Given the description of an element on the screen output the (x, y) to click on. 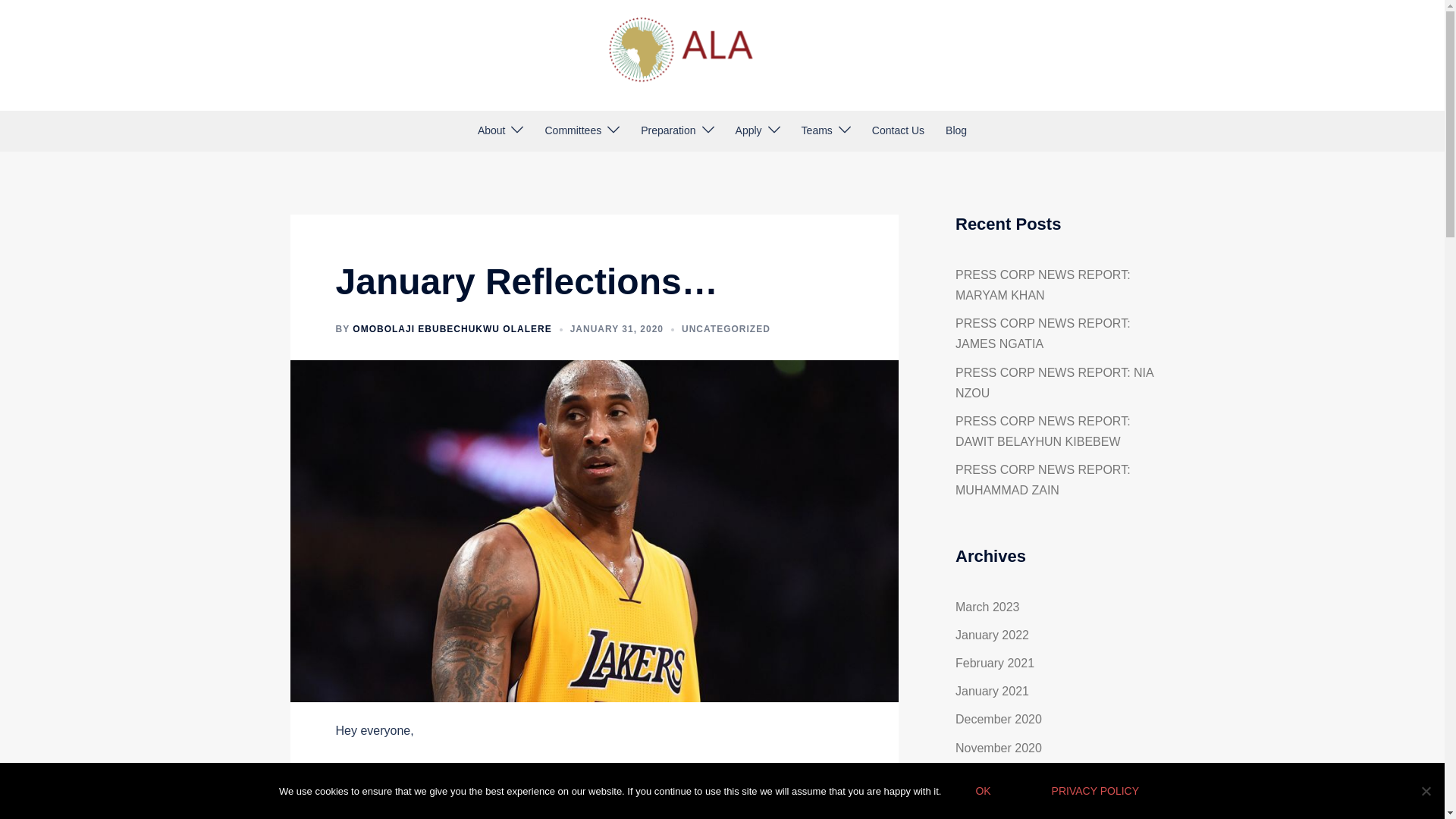
ALAMAU (722, 53)
About (491, 131)
Apply (748, 131)
Preparation (667, 131)
No (1425, 790)
Committees (572, 131)
